Given the description of an element on the screen output the (x, y) to click on. 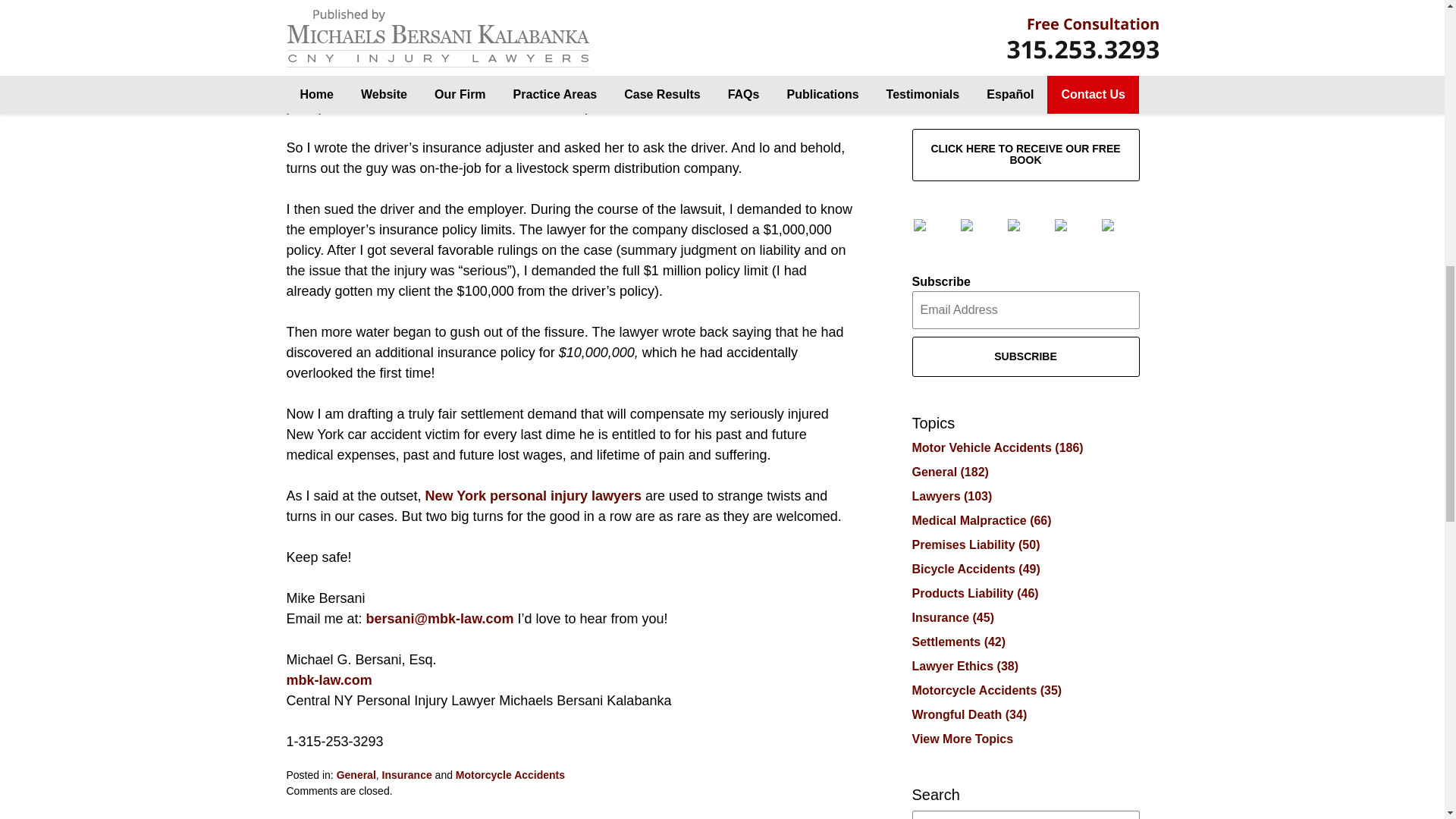
New York personal injury lawyers (535, 495)
Twitter (977, 224)
View all posts in Insurance (406, 775)
Facebook (930, 224)
Insurance (406, 775)
SUBSCRIBE (1024, 356)
LinkedIn (1025, 224)
Feed (1118, 224)
General (355, 775)
Justia (1072, 224)
